Given the description of an element on the screen output the (x, y) to click on. 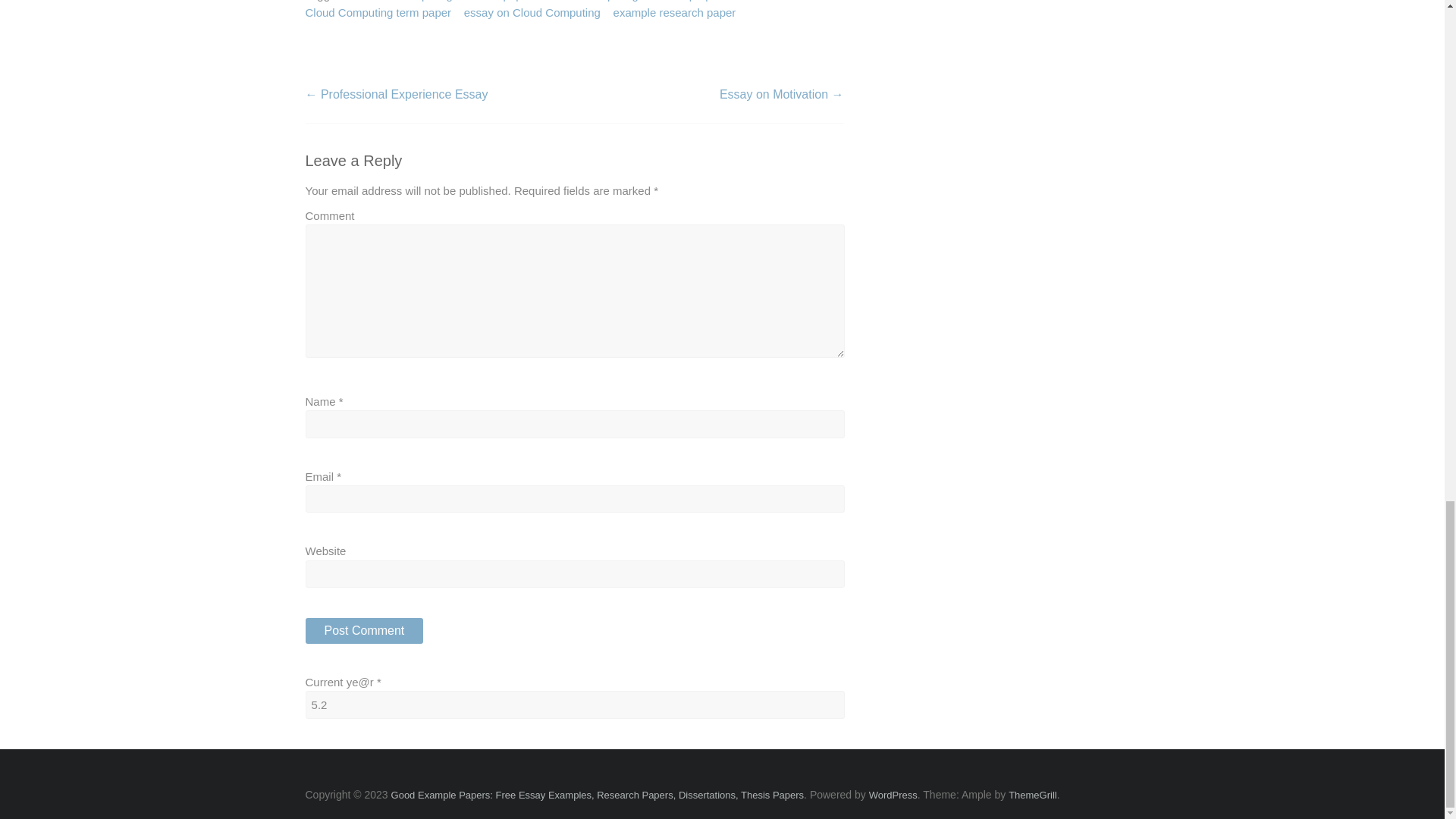
5.2 (574, 704)
Post Comment (363, 630)
WordPress (893, 794)
Cloud Computing research papers (451, 2)
Post Comment (363, 630)
example research paper (674, 13)
Cloud Computing research proposal (641, 2)
Cloud Computing term paper (377, 13)
